Given the description of an element on the screen output the (x, y) to click on. 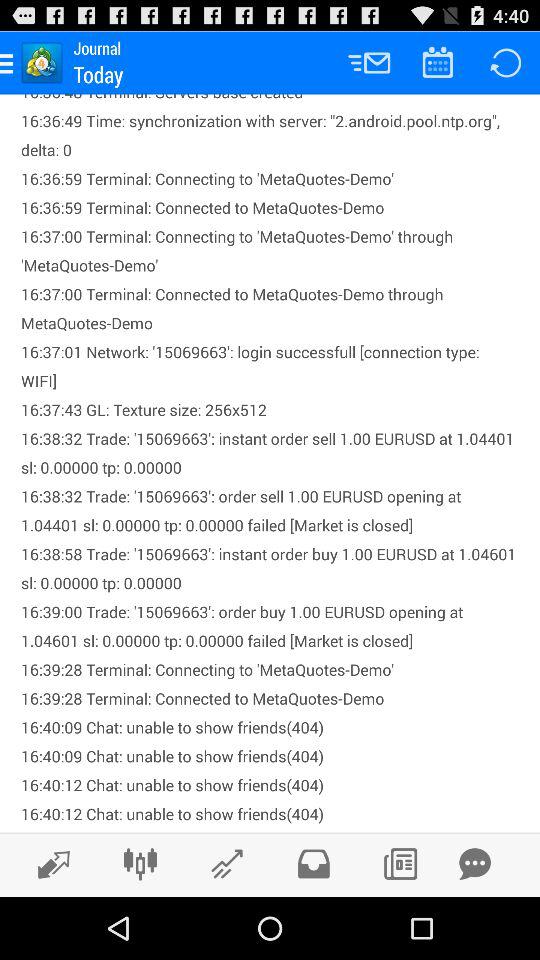
share (475, 864)
